Given the description of an element on the screen output the (x, y) to click on. 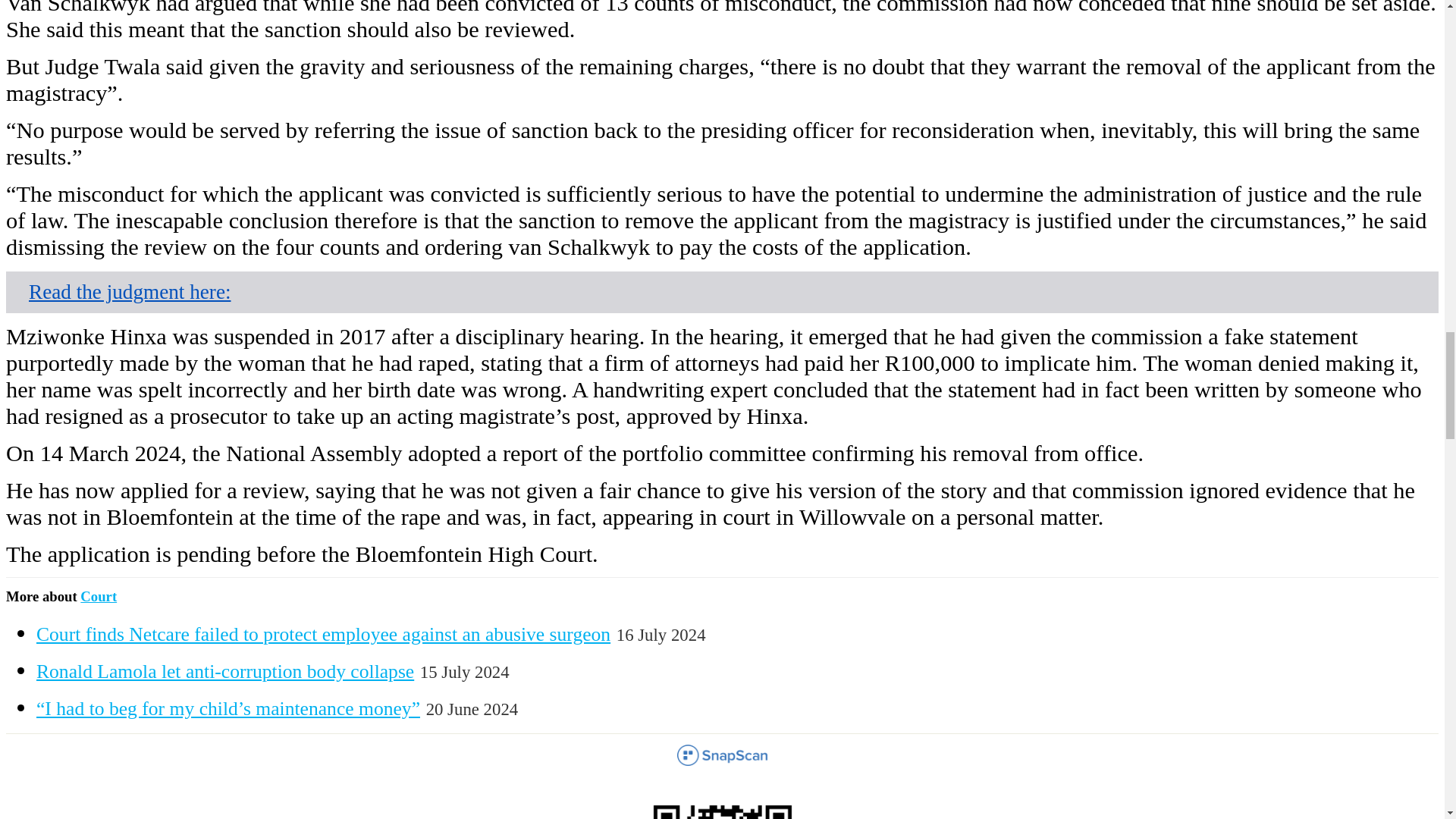
Ronald Lamola let anti-corruption body collapse (224, 671)
Read the judgment here: (130, 291)
Court (98, 596)
